Given the description of an element on the screen output the (x, y) to click on. 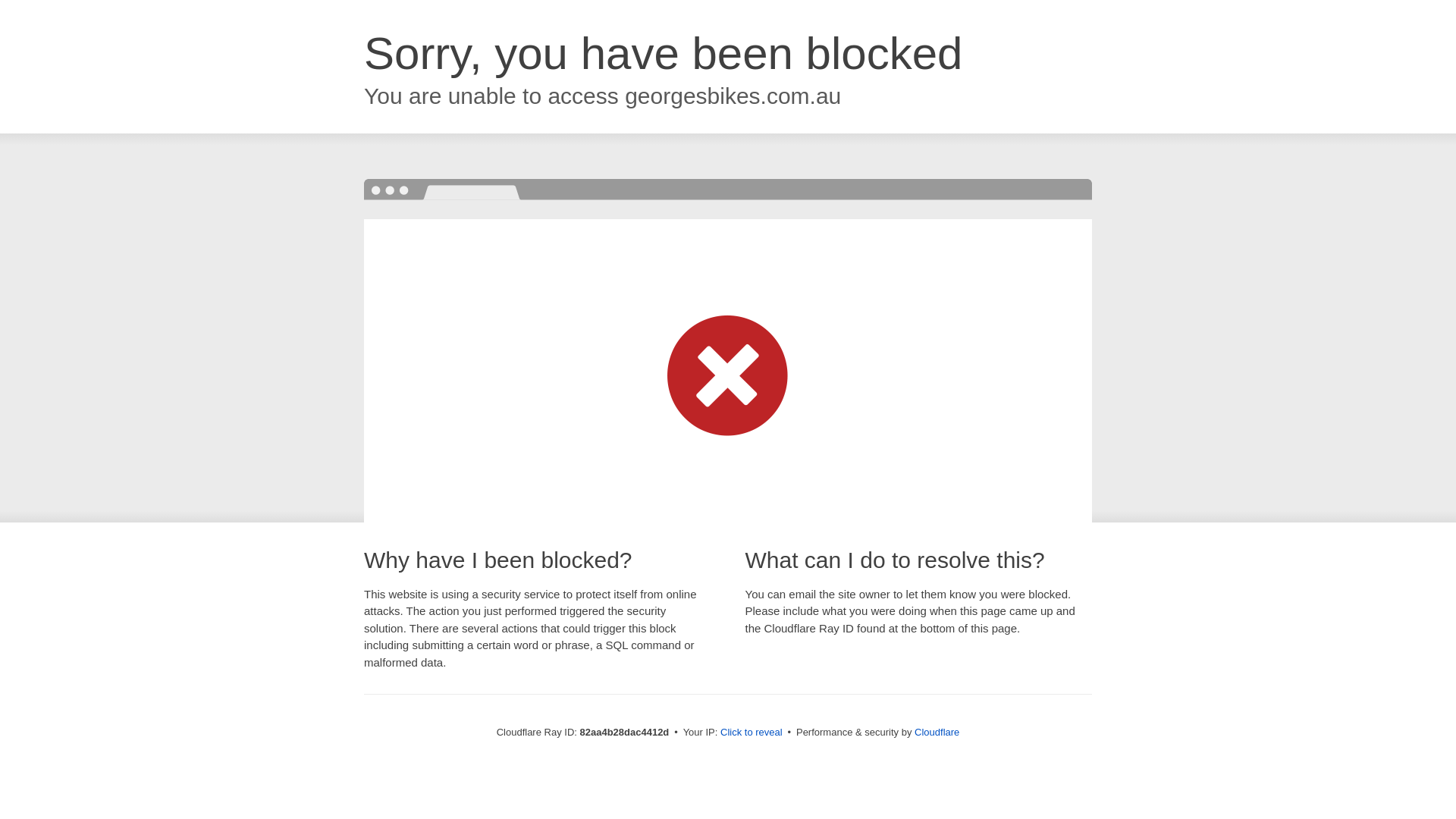
Click to reveal Element type: text (751, 732)
Cloudflare Element type: text (936, 731)
